Given the description of an element on the screen output the (x, y) to click on. 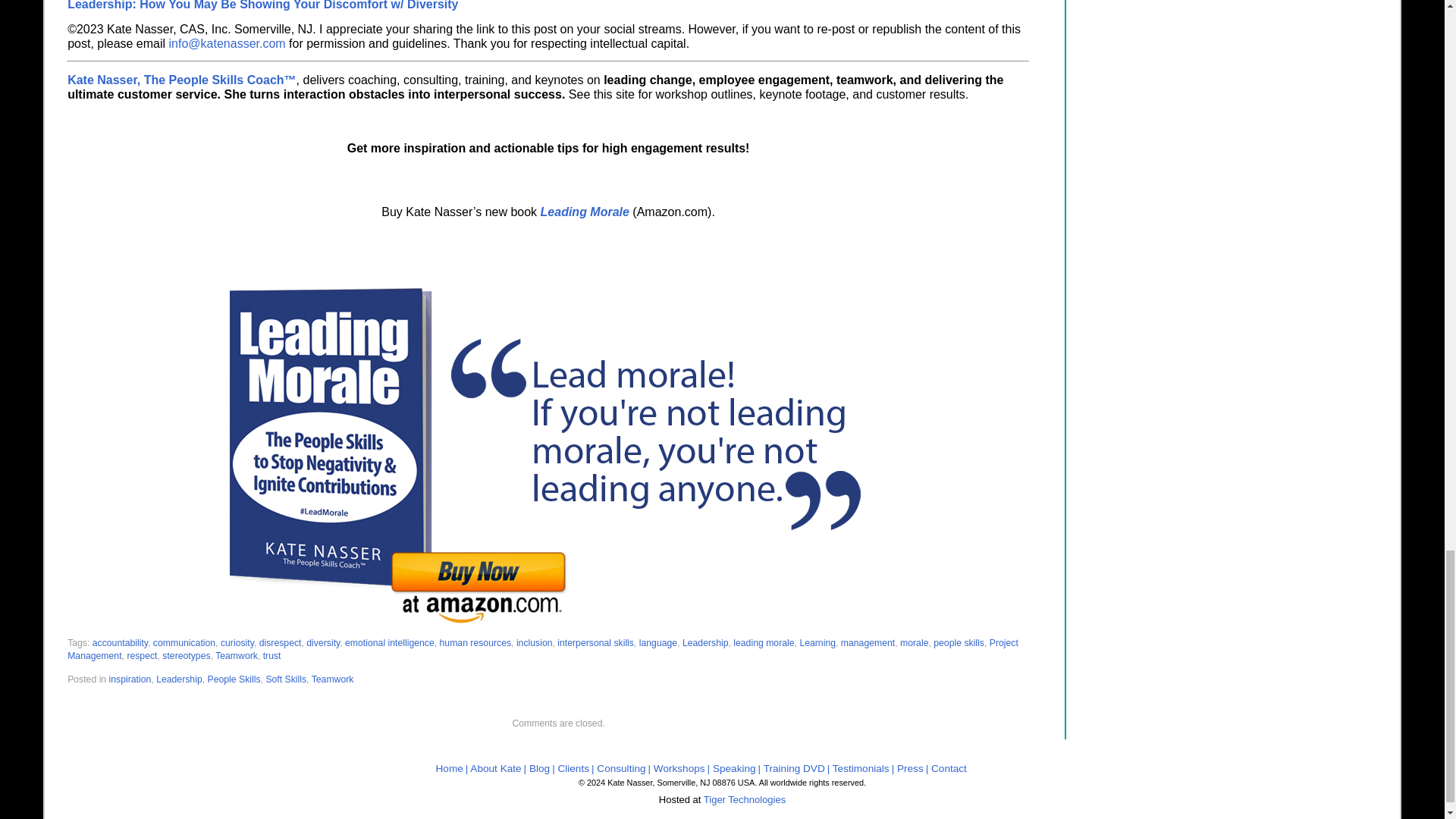
curiosity (237, 643)
disrespect (280, 643)
communication (183, 643)
interpersonal skills (595, 643)
emotional intelligence (389, 643)
diversity (322, 643)
human resources (475, 643)
Leading Morale (584, 211)
inclusion (534, 643)
accountability (120, 643)
